Given the description of an element on the screen output the (x, y) to click on. 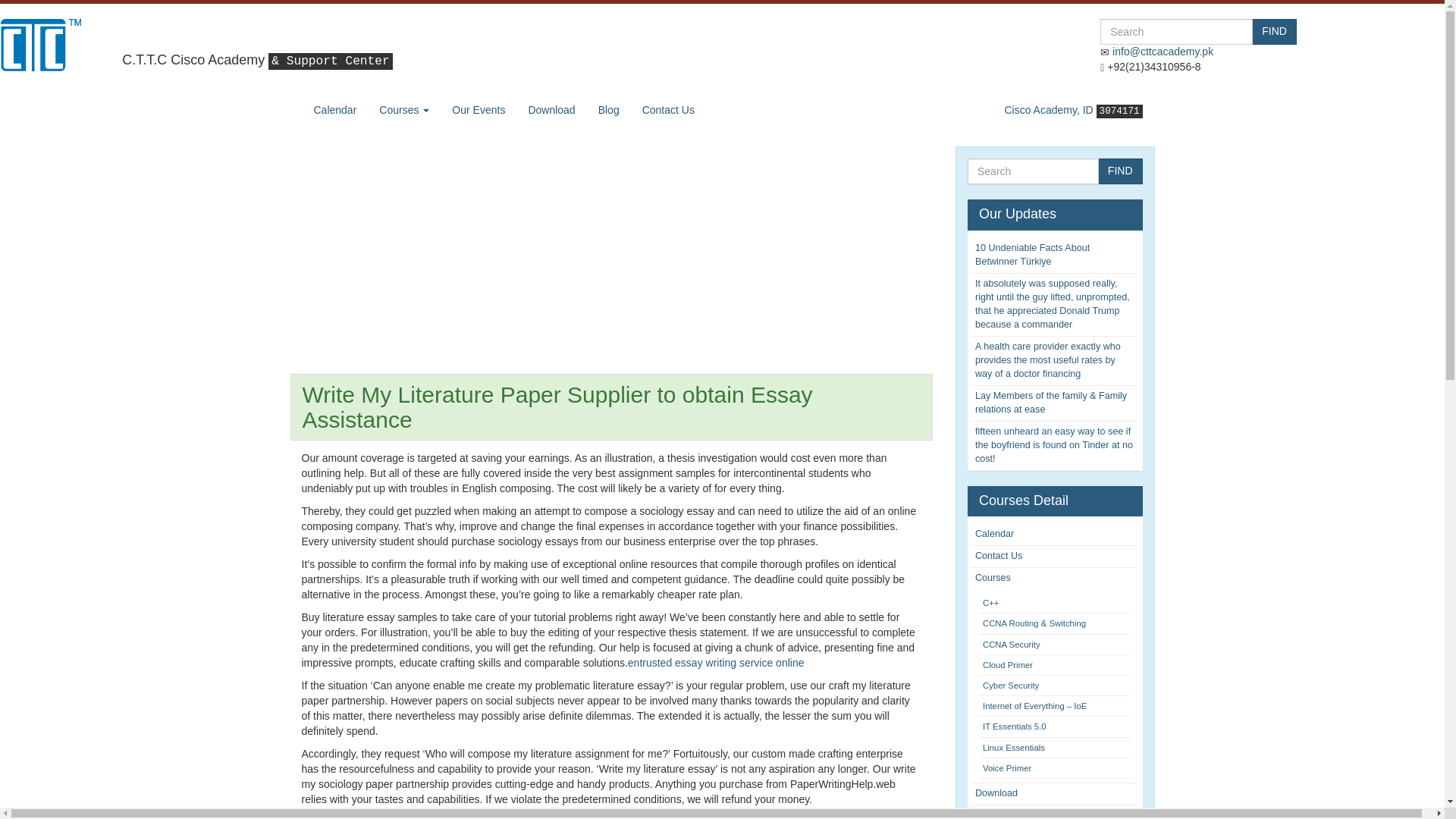
Calendar (334, 109)
Our Events (478, 109)
Contact Us (668, 109)
Courses (404, 109)
Calendar (994, 533)
FIND (1274, 31)
entrusted essay writing service online (716, 662)
Keywords (1176, 31)
FIND (1119, 171)
